Given the description of an element on the screen output the (x, y) to click on. 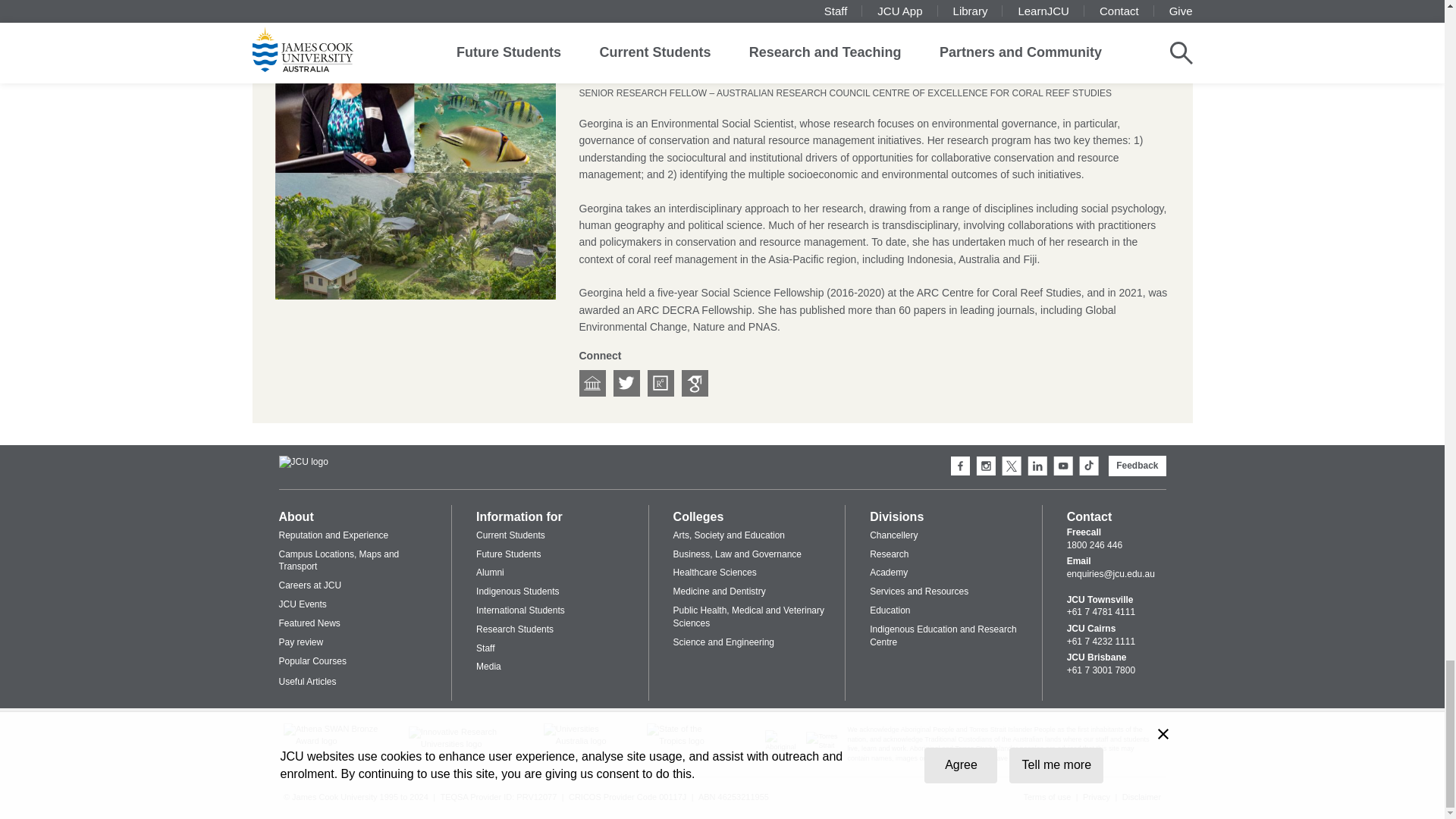
Go to JCU Instagram (985, 465)
Innovative Research Universities (465, 743)
Go to Indigenous Education and Research Centre (785, 756)
Dr Georgina Gurney research gate (660, 383)
Universities Australia (584, 740)
Go to JCU home page (304, 462)
Dr Georgina Gurney google scholar page (694, 383)
Dr Georgina Gurney twitter (625, 383)
State of the tropics (687, 740)
Go to JCU LinkedIn (1036, 465)
